Given the description of an element on the screen output the (x, y) to click on. 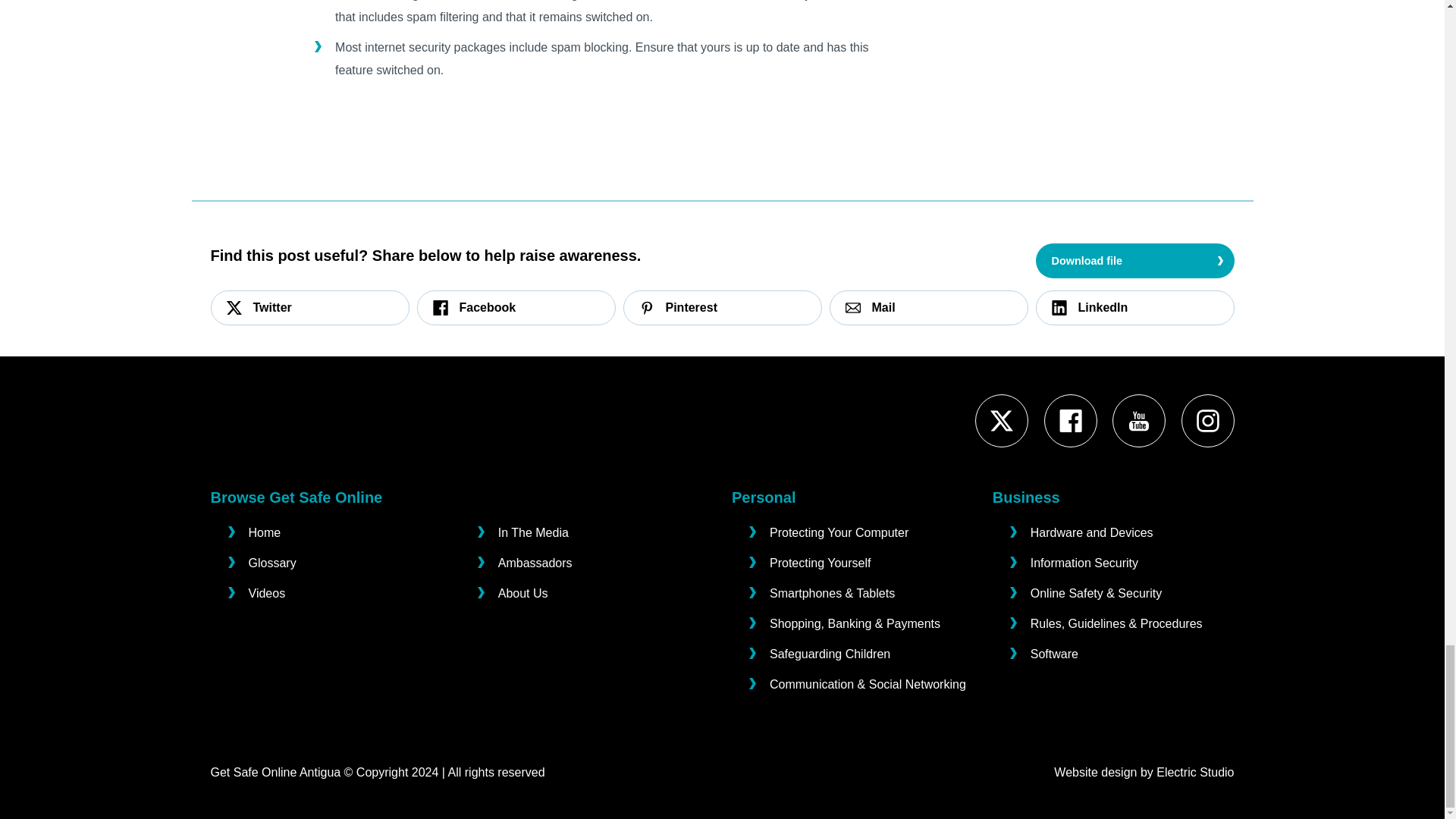
Get Safe Online Antigua facebook (1070, 420)
Get Safe Online Antigua youtube (1138, 420)
Get Safe Online Antigua twitter (1001, 420)
Get Safe Online Antigua instagram (1208, 420)
Digital Agency Oxford (1194, 771)
